Given the description of an element on the screen output the (x, y) to click on. 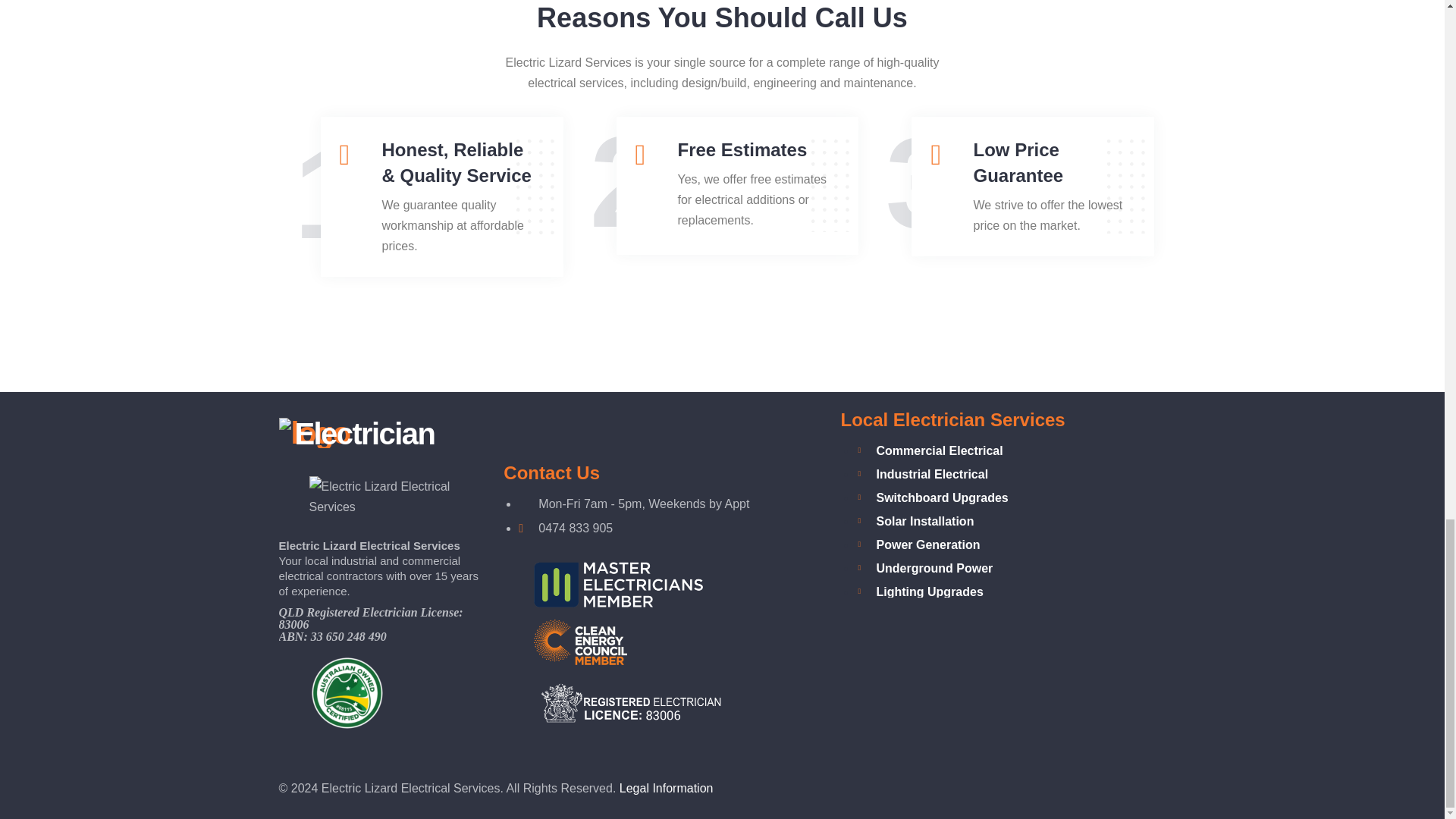
Electrician (357, 433)
0474 833 905 (575, 527)
